Given the description of an element on the screen output the (x, y) to click on. 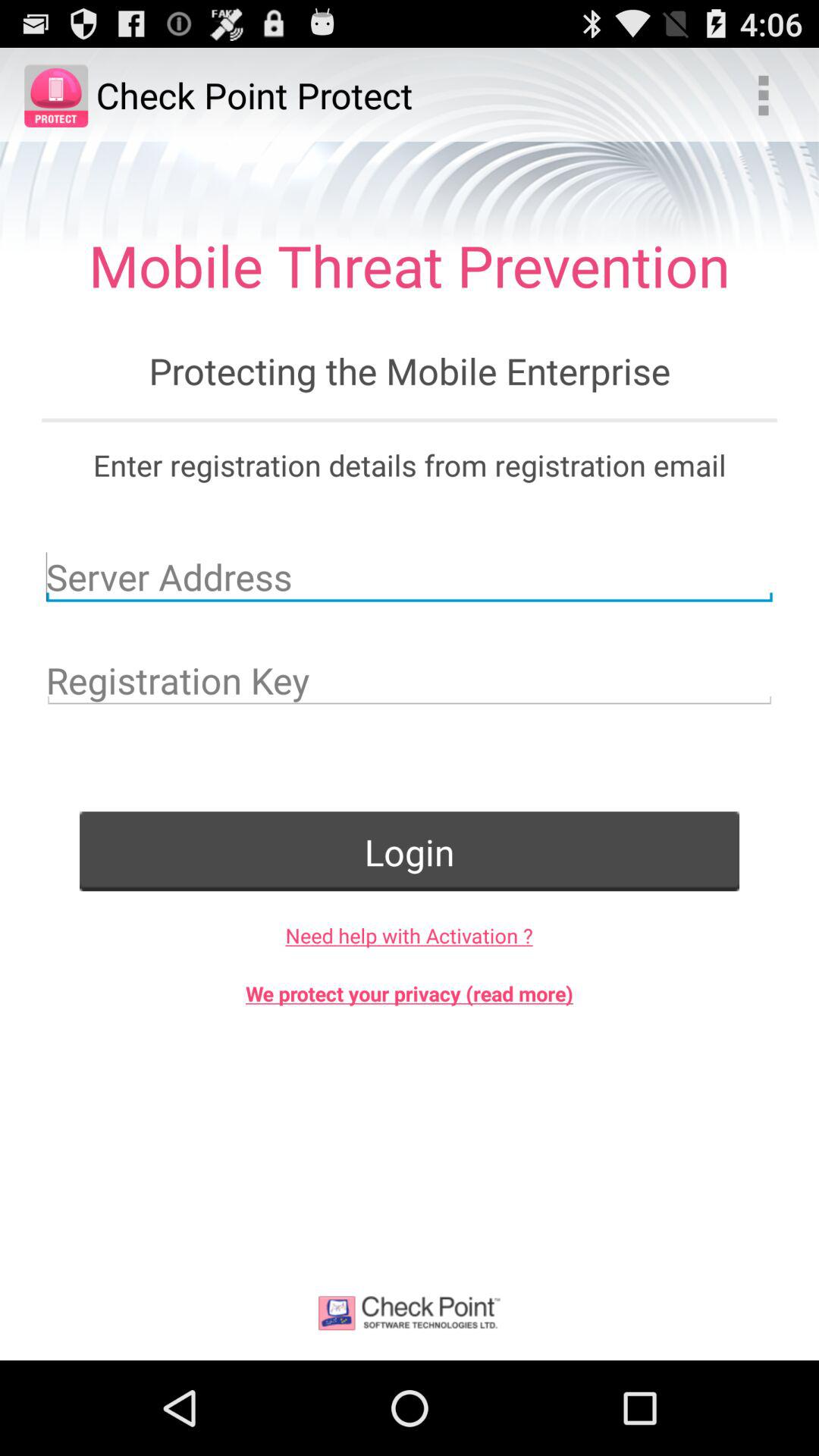
enter server address (409, 576)
